Given the description of an element on the screen output the (x, y) to click on. 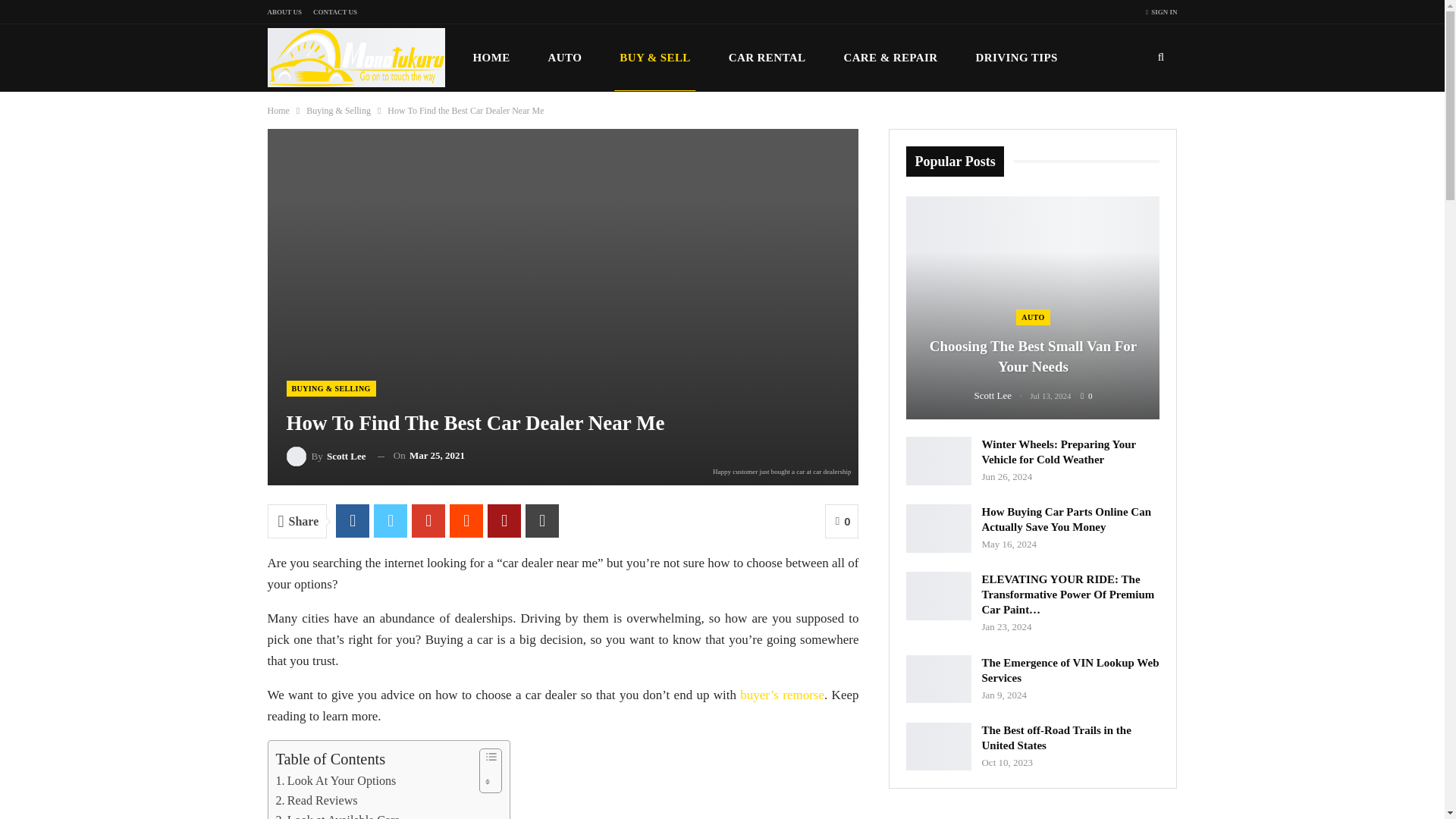
Read Reviews (317, 800)
Look At Your Options (336, 781)
Look at Available Cars (337, 814)
Home (277, 110)
ABOUT US (283, 11)
DRIVING TIPS (1016, 57)
By Scott Lee (326, 455)
Read Reviews (317, 800)
Browse Author Articles (326, 455)
CONTACT US (334, 11)
Look at Available Cars (337, 814)
Look At Your Options (336, 781)
0 (842, 521)
CAR RENTAL (766, 57)
